Given the description of an element on the screen output the (x, y) to click on. 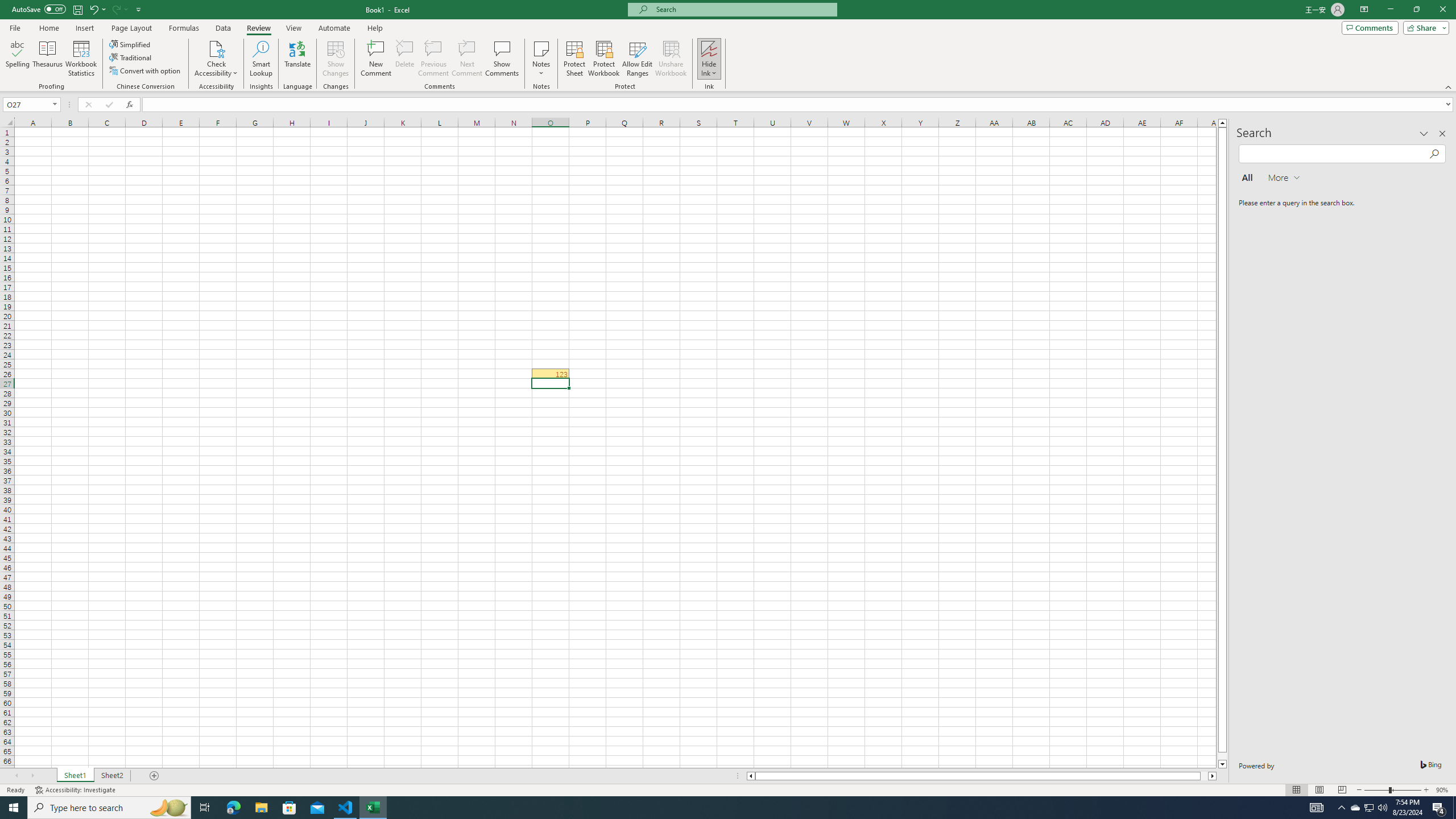
Show Comments (501, 58)
Delete (404, 58)
